Given the description of an element on the screen output the (x, y) to click on. 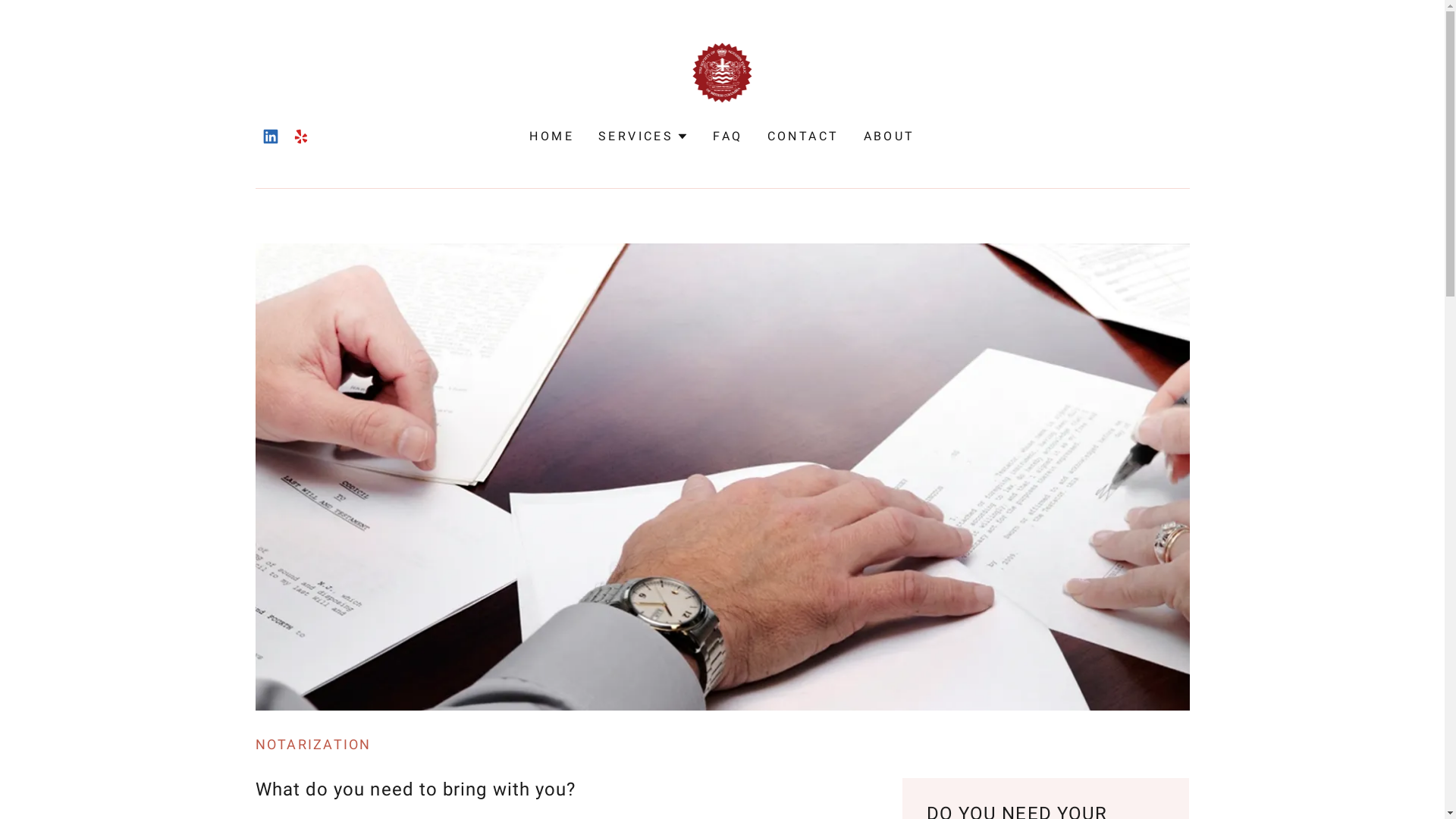
CONTACT Element type: text (803, 136)
ABOUT Element type: text (889, 136)
FAQ Element type: text (727, 136)
Armita Mossalanejad Notary Public Element type: hover (722, 71)
SERVICES Element type: text (643, 136)
HOME Element type: text (551, 136)
